Given the description of an element on the screen output the (x, y) to click on. 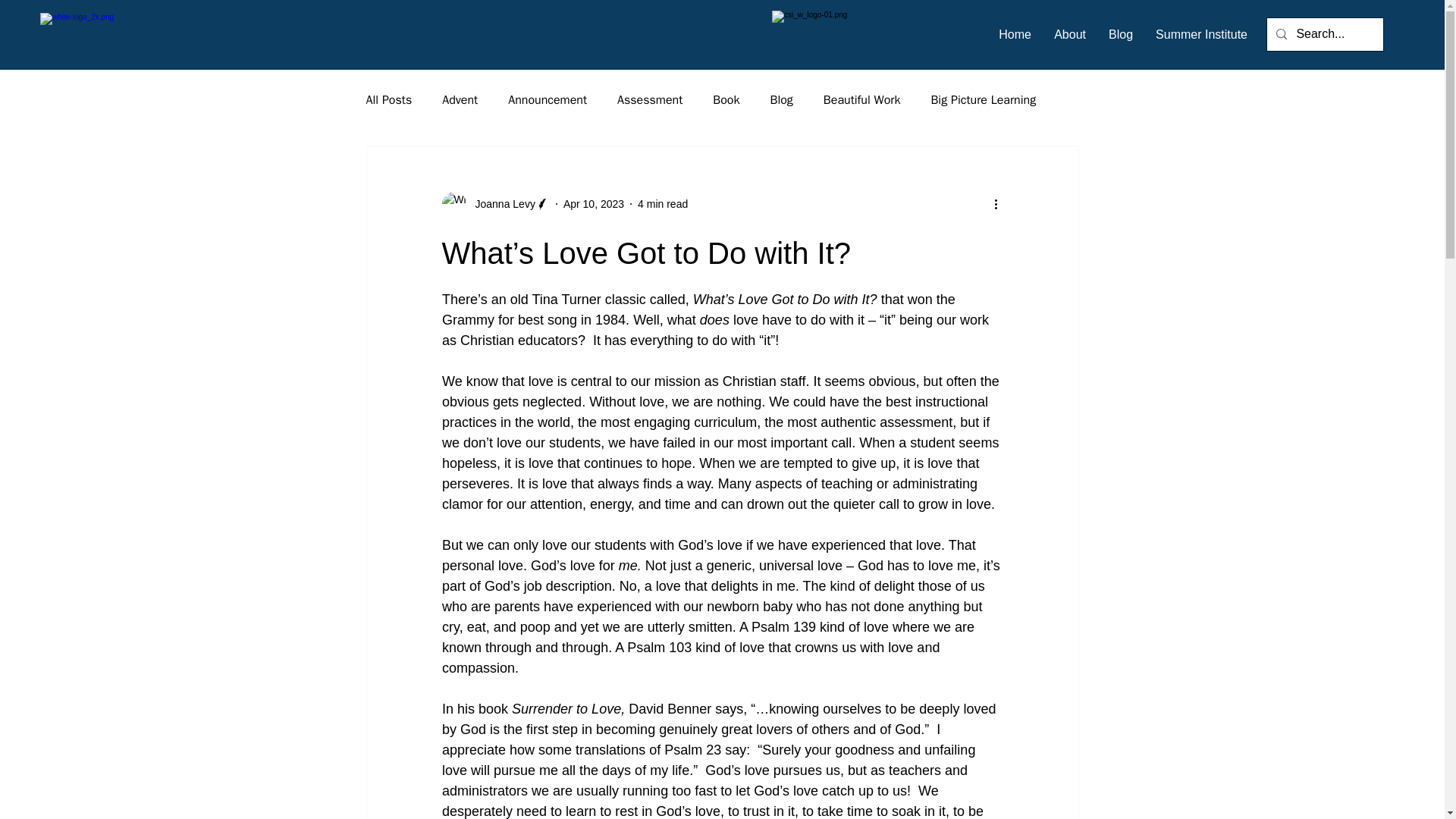
Apr 10, 2023 (593, 203)
Blog (1120, 34)
Home (1014, 34)
Book (726, 100)
Blog (781, 100)
Beautiful Work (862, 100)
4 min read (662, 203)
Joanna Levy (499, 203)
About (1069, 34)
Advent (459, 100)
